Given the description of an element on the screen output the (x, y) to click on. 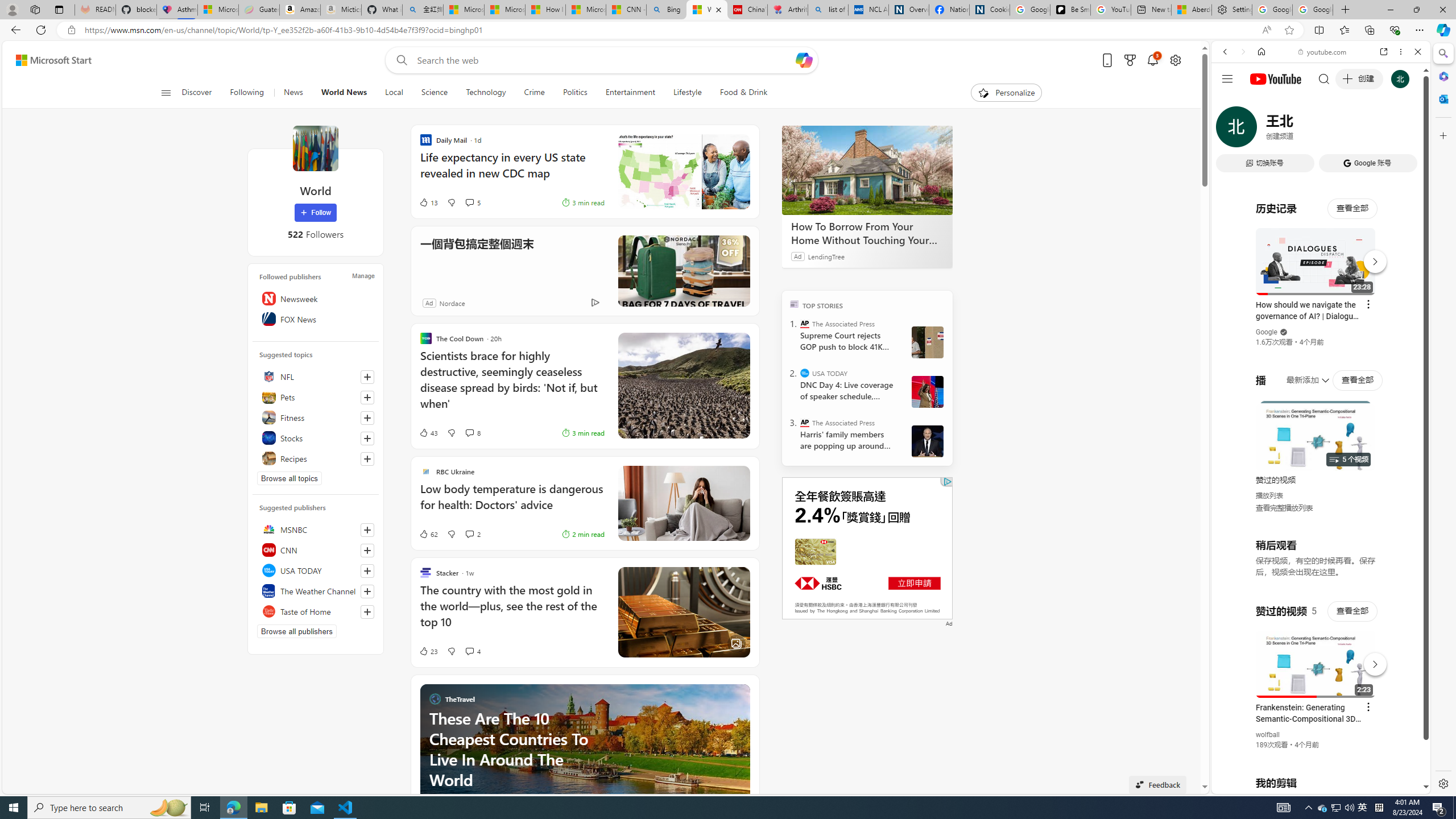
Actions for this site (1371, 661)
Science (434, 92)
wolfball (1268, 734)
CNN - MSN (625, 9)
AutomationID: canvas (866, 548)
Recipes (315, 458)
you (1315, 755)
Dislike (451, 650)
